Given the description of an element on the screen output the (x, y) to click on. 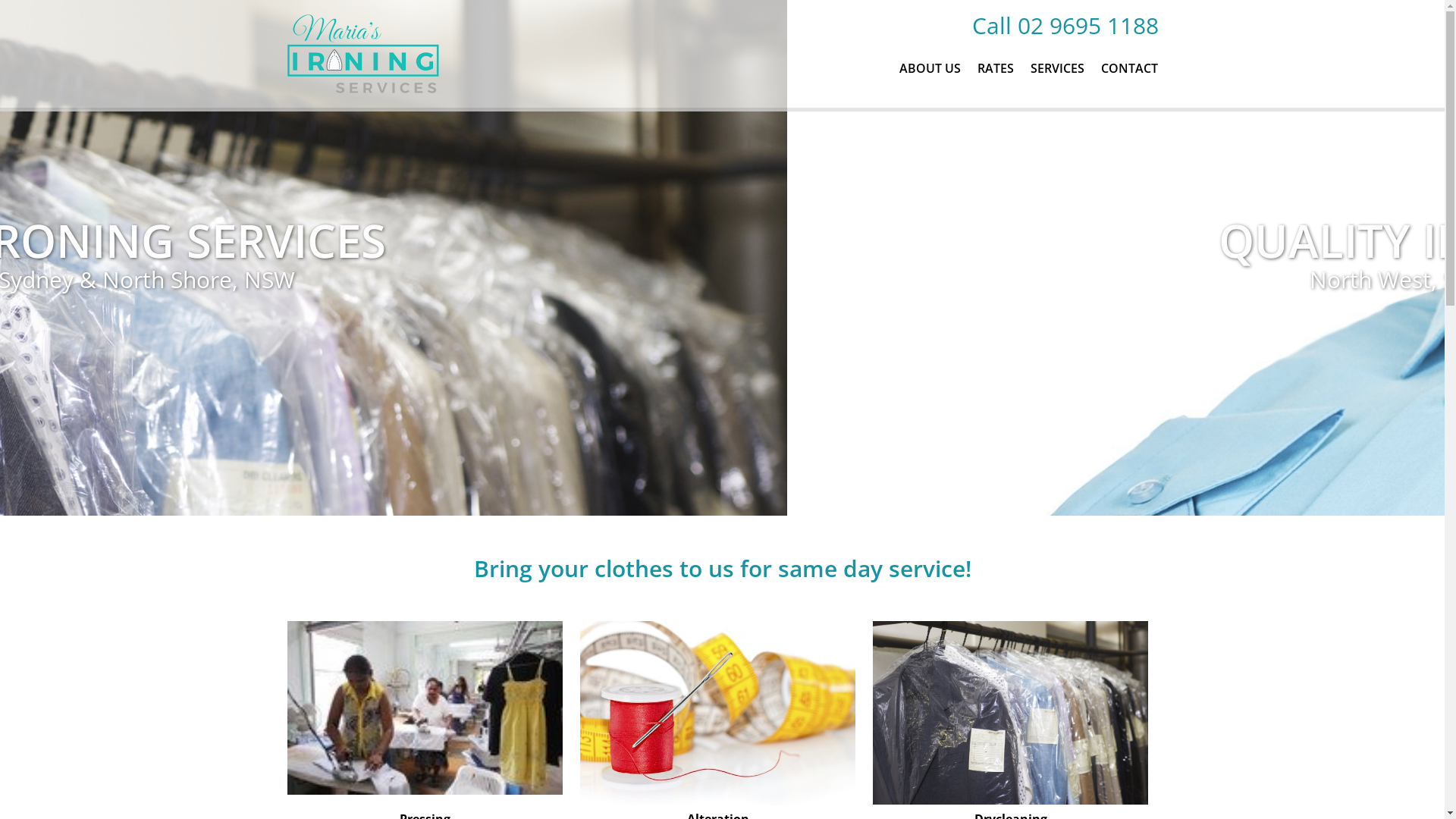
CONTACT Element type: text (1128, 68)
Drycleaning Element type: hover (1010, 713)
ABOUT US Element type: text (929, 68)
Maria's Ironing Services Element type: hover (363, 53)
Alteration Element type: hover (717, 713)
RATES Element type: text (995, 68)
SERVICES Element type: text (1057, 68)
Call 02 9695 1188 Element type: text (1061, 24)
Pressing Element type: hover (424, 713)
